Given the description of an element on the screen output the (x, y) to click on. 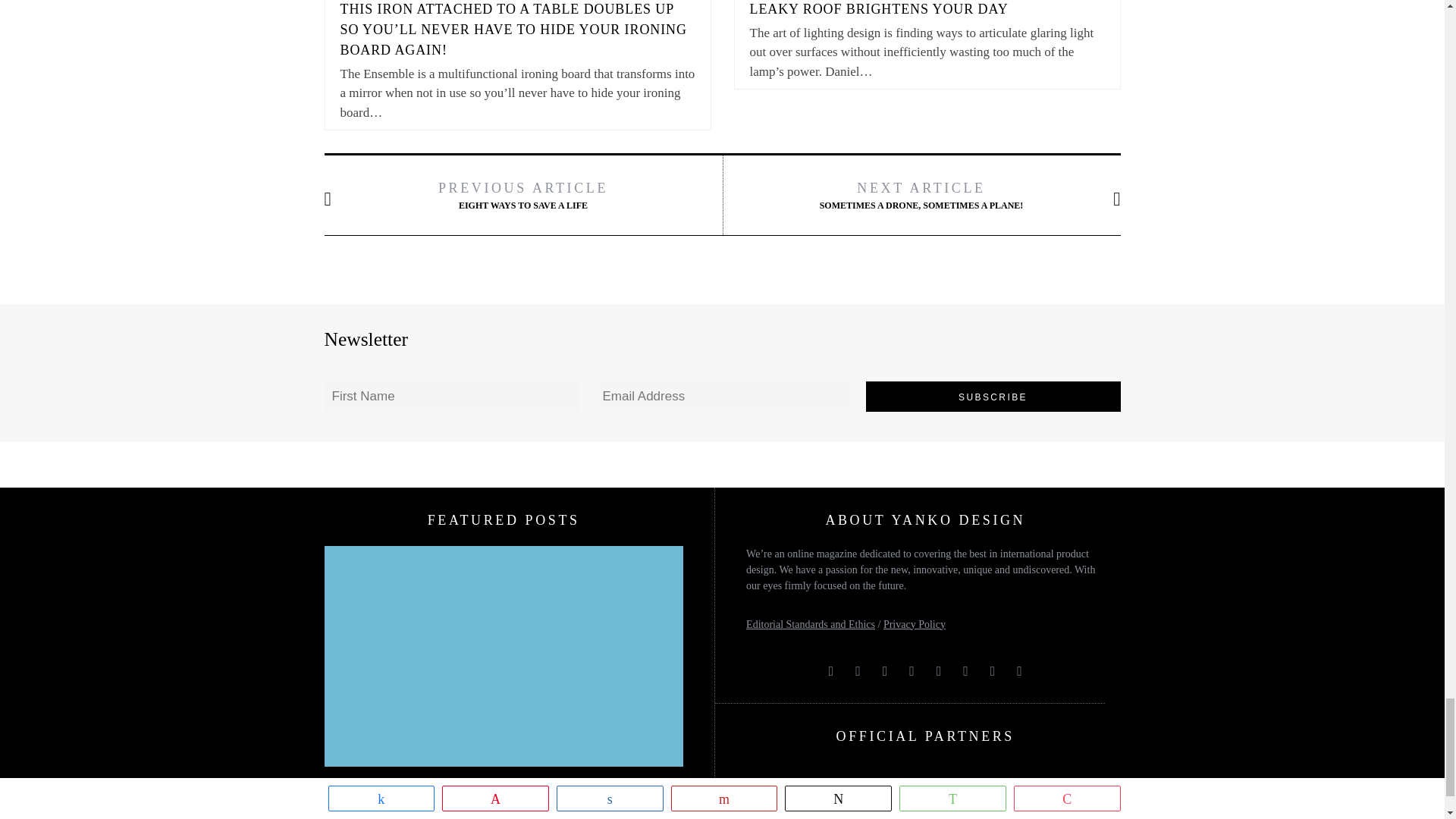
Privacy Policy (913, 624)
Editorial Standards and Ethics (810, 624)
Subscribe (993, 396)
